Given the description of an element on the screen output the (x, y) to click on. 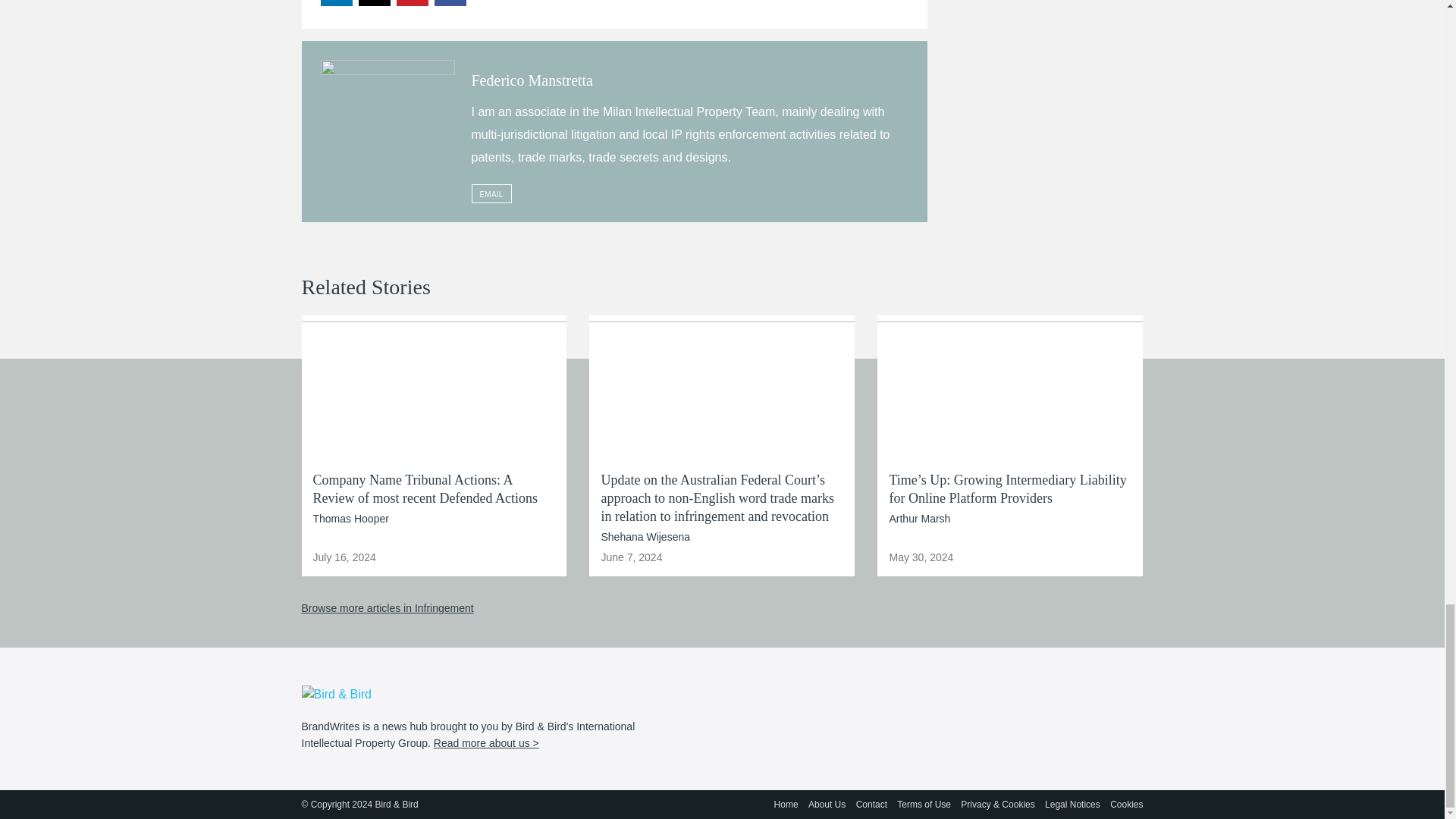
Share on Facebook (450, 2)
Share on LinkedIn (336, 2)
Shehana Wijesena (644, 537)
Thomas Hooper (350, 519)
EMAIL (491, 193)
Save to Pinterest (412, 2)
Share on X (374, 2)
